Given the description of an element on the screen output the (x, y) to click on. 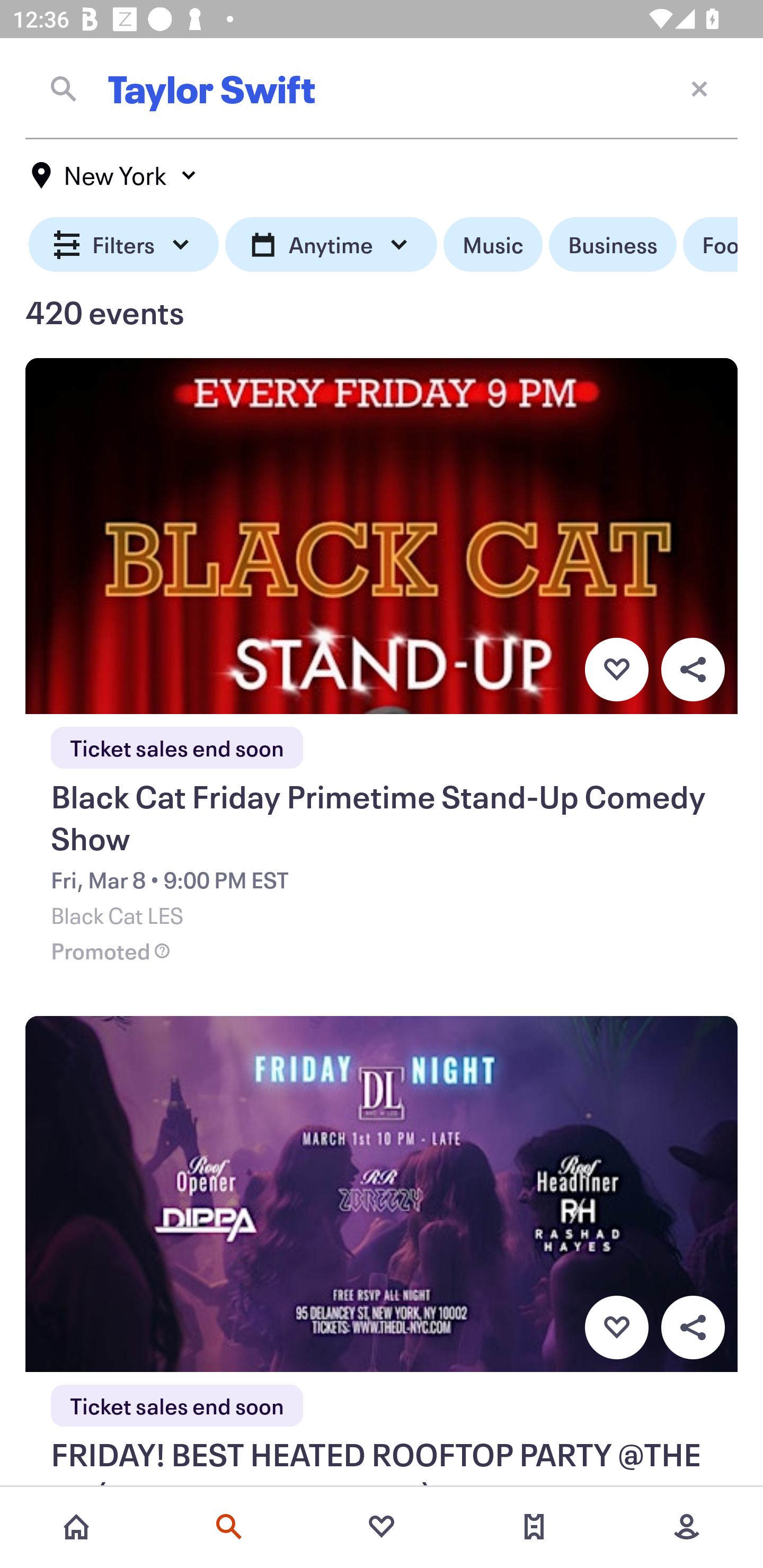
Taylor Swift Close current screen (381, 88)
Close current screen (699, 88)
New York (114, 175)
Filters (123, 244)
Anytime (331, 244)
Music (492, 244)
Business (612, 244)
Favorite button (616, 669)
Overflow menu button (692, 669)
Favorite button (616, 1326)
Overflow menu button (692, 1326)
Home (76, 1526)
Search events (228, 1526)
Favorites (381, 1526)
Tickets (533, 1526)
More (686, 1526)
